Given the description of an element on the screen output the (x, y) to click on. 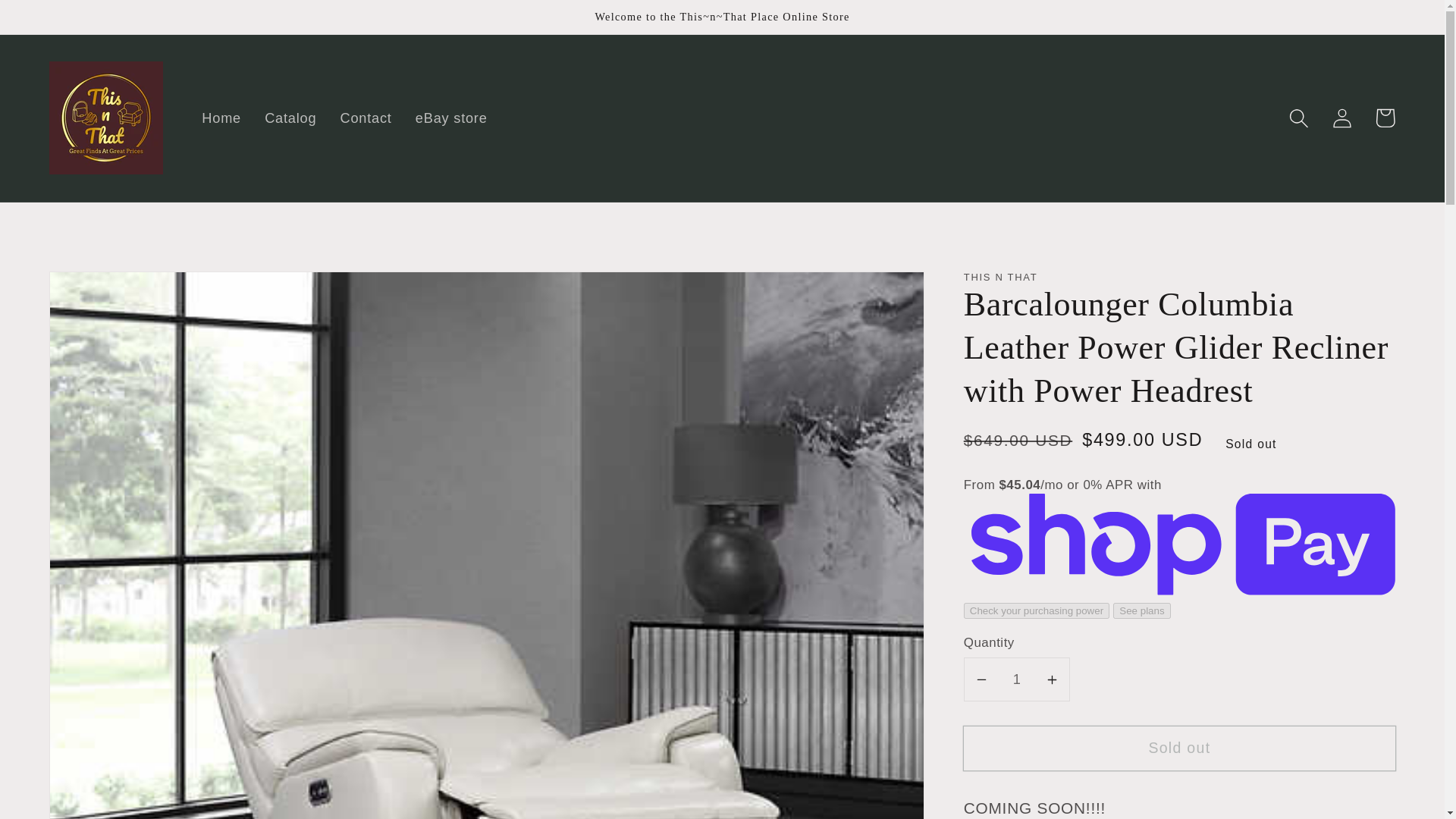
Contact (366, 117)
Home (221, 117)
Catalog (291, 117)
Skip to product information (107, 293)
1 (1016, 679)
eBay store (451, 117)
Skip to content (58, 22)
Sold out (1178, 748)
Cart (1384, 117)
Log in (1341, 117)
